Given the description of an element on the screen output the (x, y) to click on. 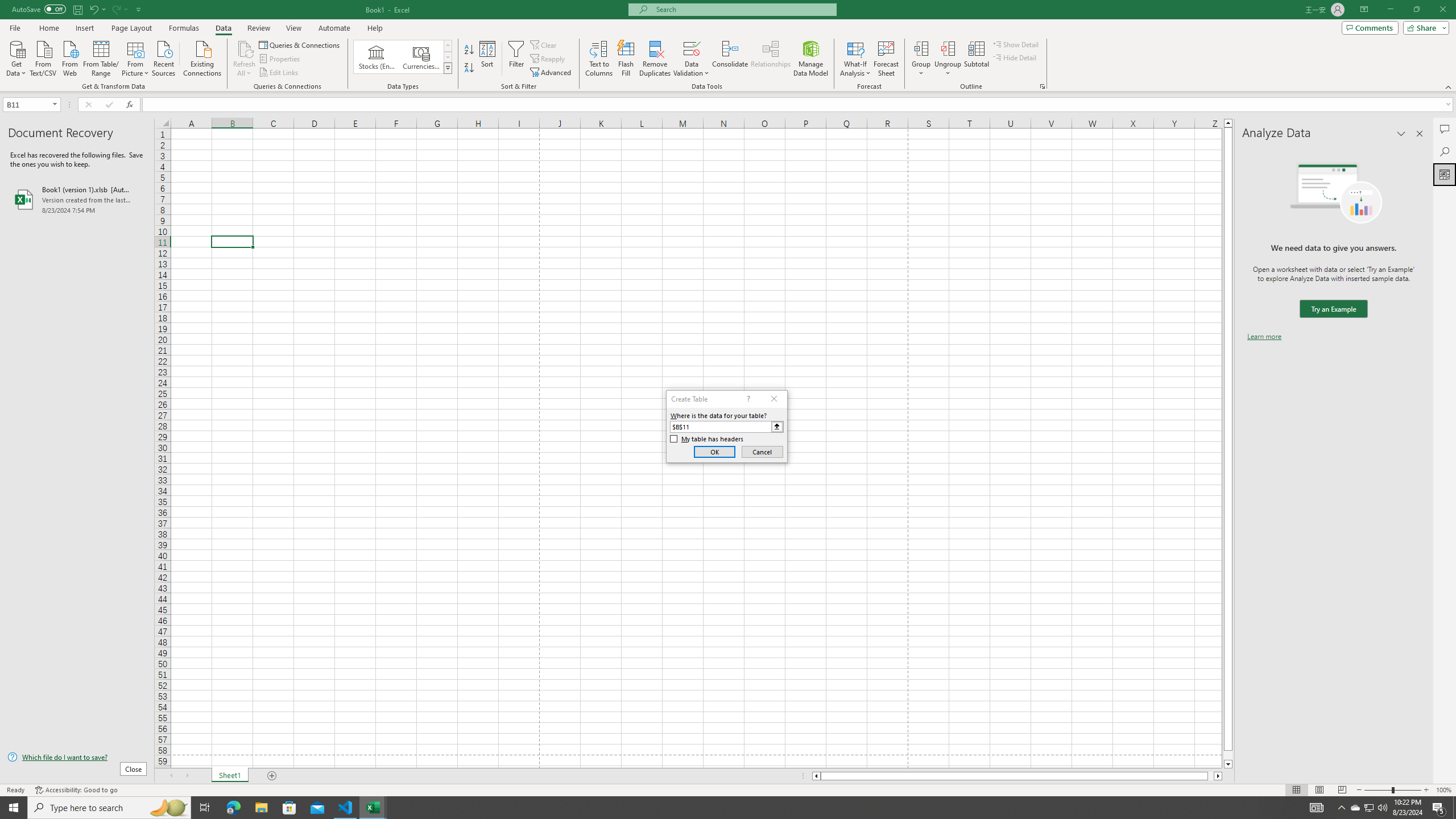
Comments (1369, 27)
View (293, 28)
Consolidate... (729, 58)
Close pane (1419, 133)
Class: NetUIImage (447, 68)
Insert (83, 28)
Sheet1 (229, 775)
Page down (1228, 755)
Clear (544, 44)
Scroll Left (171, 775)
